Given the description of an element on the screen output the (x, y) to click on. 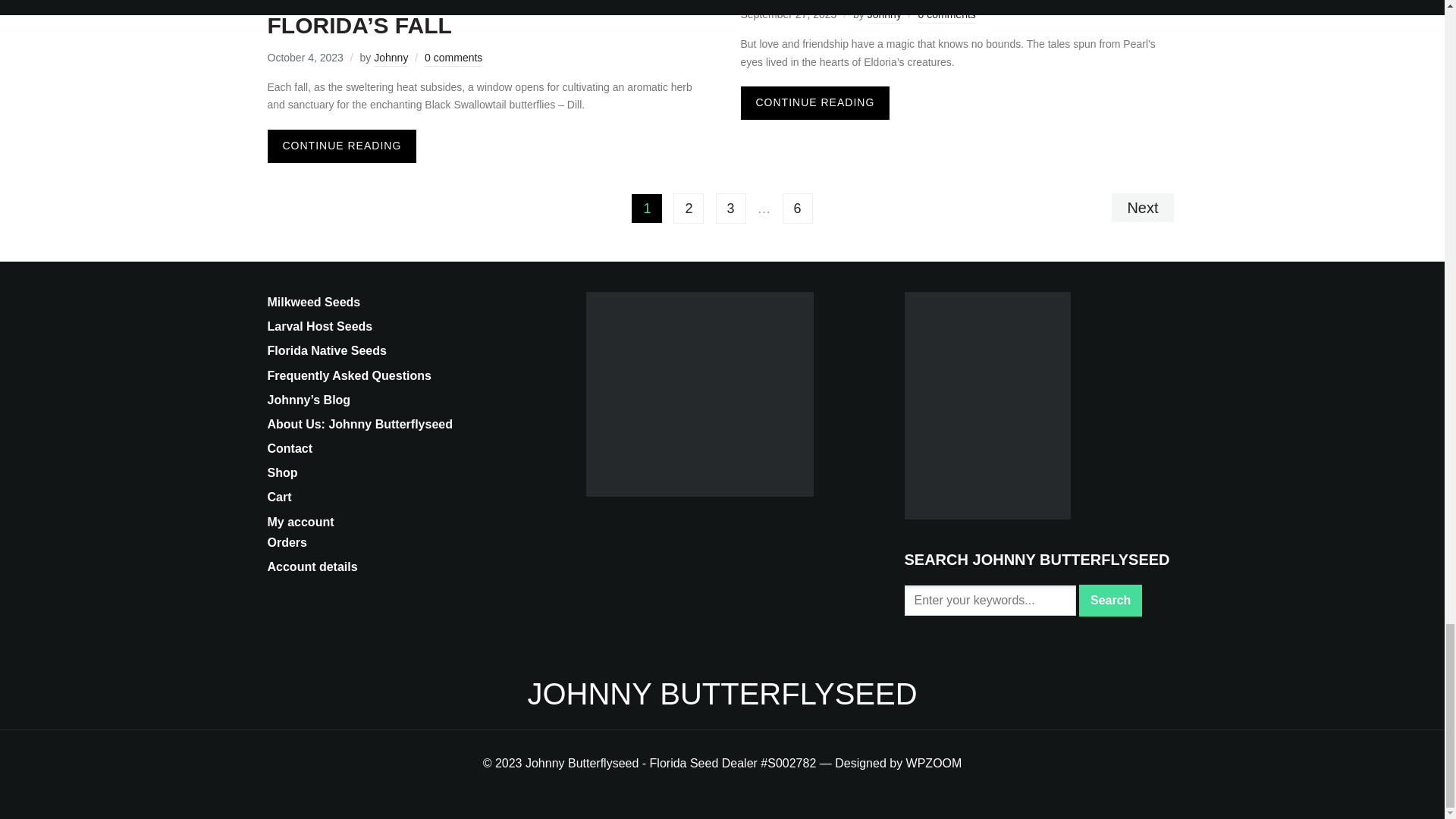
Search (1109, 600)
Search (1109, 600)
